Given the description of an element on the screen output the (x, y) to click on. 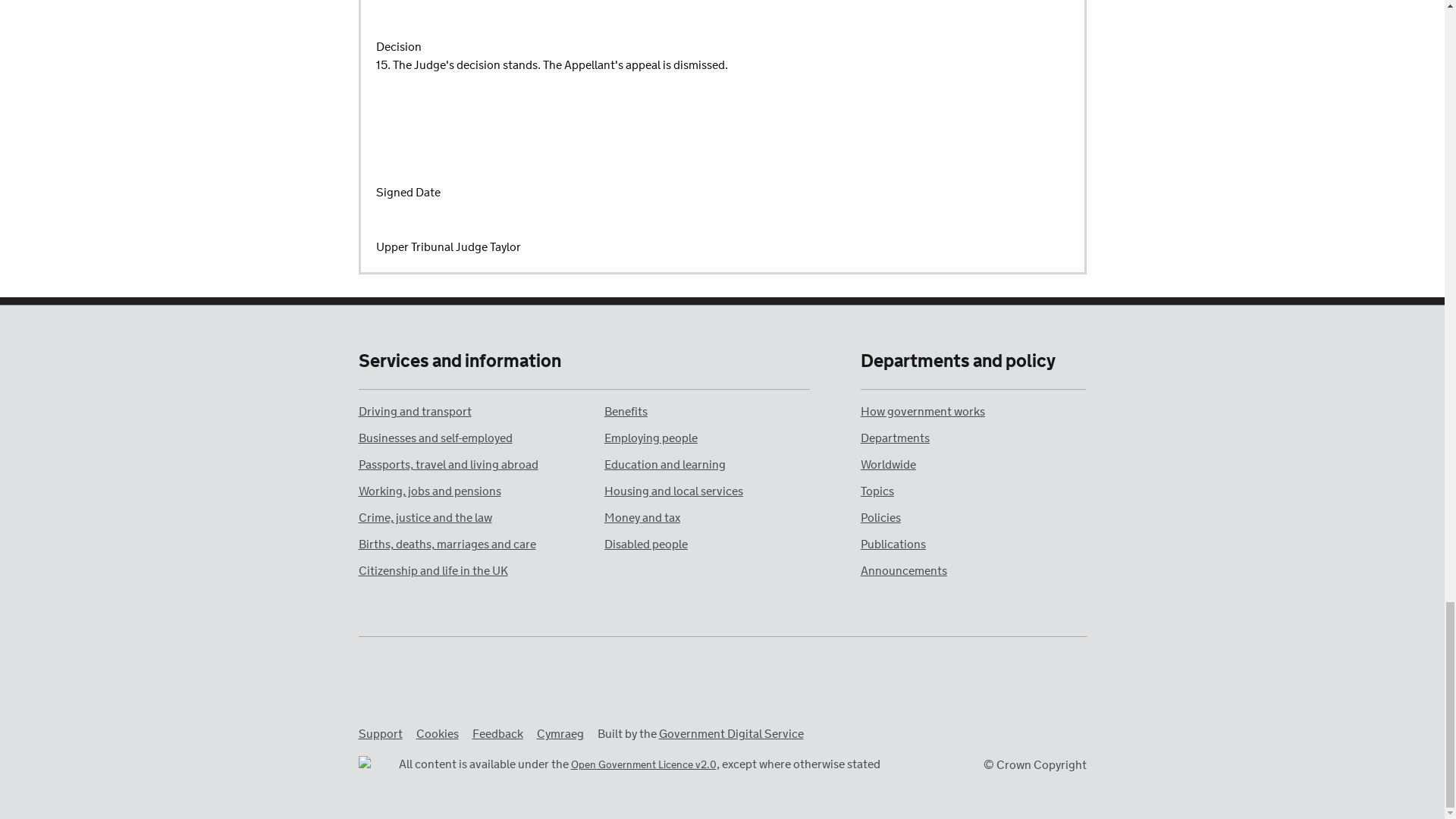
Businesses and self-employed (435, 438)
Money and tax (641, 518)
Feedback (496, 734)
Announcements (903, 571)
Births, deaths, marriages and care (446, 544)
Driving and transport (414, 412)
Cymraeg (560, 734)
Housing and local services (673, 491)
Citizenship and life in the UK (432, 571)
Government Digital Service (730, 734)
